Given the description of an element on the screen output the (x, y) to click on. 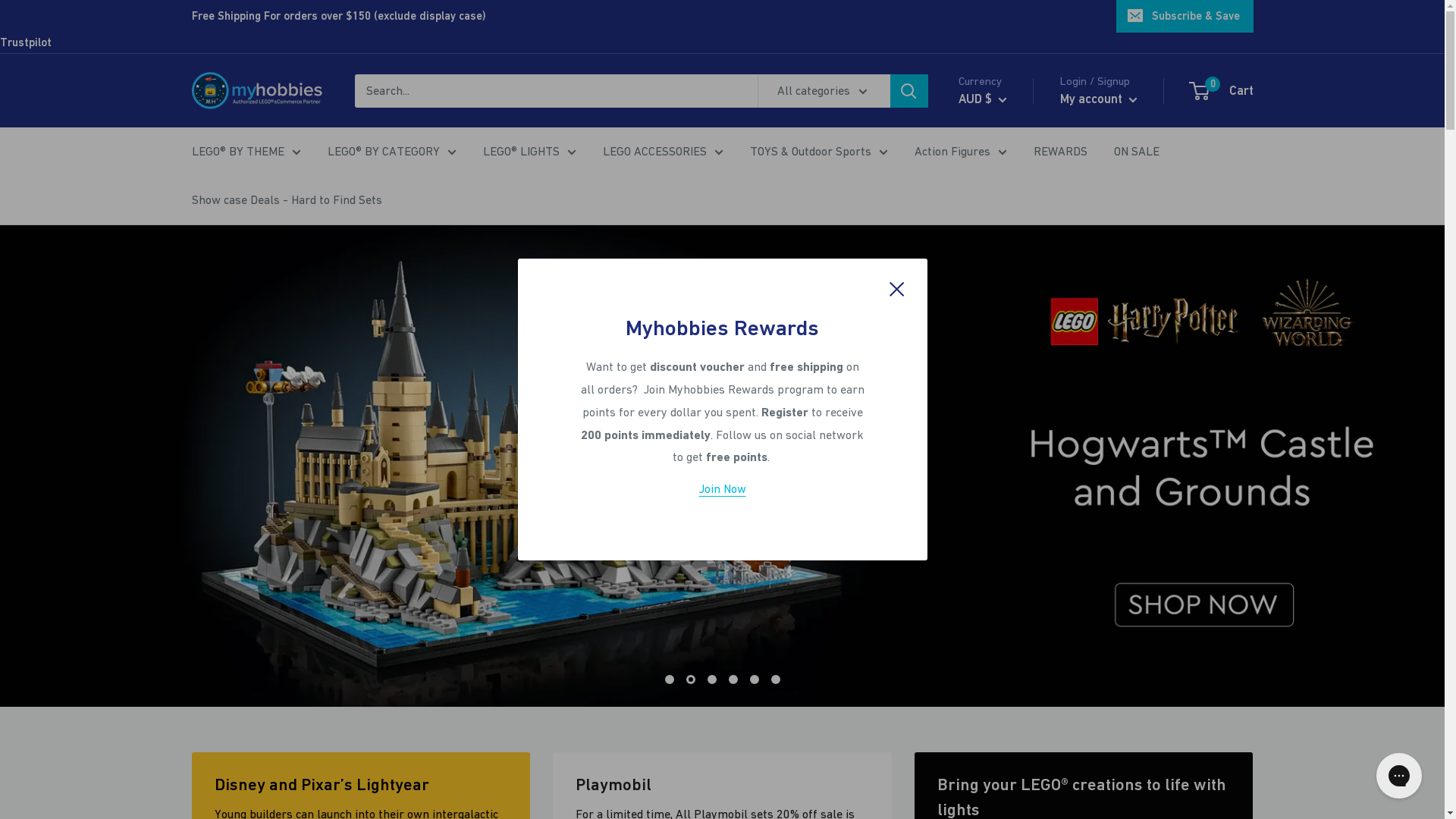
AFN Element type: text (1004, 299)
BDT Element type: text (1004, 507)
Join Now Element type: text (722, 488)
BGN Element type: text (1004, 530)
Action Figures Element type: text (960, 151)
My account Element type: text (1098, 99)
AUD $ Element type: text (982, 99)
AZN Element type: text (1004, 438)
TOYS & Outdoor Sports Element type: text (818, 151)
Trustpilot Element type: text (25, 41)
Subscribe & Save Element type: text (1184, 15)
AWG Element type: text (1004, 415)
BOB Element type: text (1004, 600)
CHF Element type: text (1004, 739)
REWARDS Element type: text (1059, 151)
BWP Element type: text (1004, 646)
CNY Element type: text (1004, 762)
AUD Element type: text (1004, 391)
BND Element type: text (1004, 576)
CRC Element type: text (1004, 785)
BAM Element type: text (1004, 461)
AMD Element type: text (1004, 345)
LEGO ACCESSORIES Element type: text (662, 151)
0
Cart Element type: text (1221, 90)
CAD Element type: text (1004, 693)
BZD Element type: text (1004, 669)
ANG Element type: text (1004, 369)
BSD Element type: text (1004, 623)
Gorgias live chat messenger Element type: hover (1398, 775)
ON SALE Element type: text (1135, 151)
Show case Deals - Hard to Find Sets Element type: text (286, 199)
BBD Element type: text (1004, 484)
ALL Element type: text (1004, 322)
CDF Element type: text (1004, 715)
AED Element type: text (1004, 276)
BIF Element type: text (1004, 554)
